Given the description of an element on the screen output the (x, y) to click on. 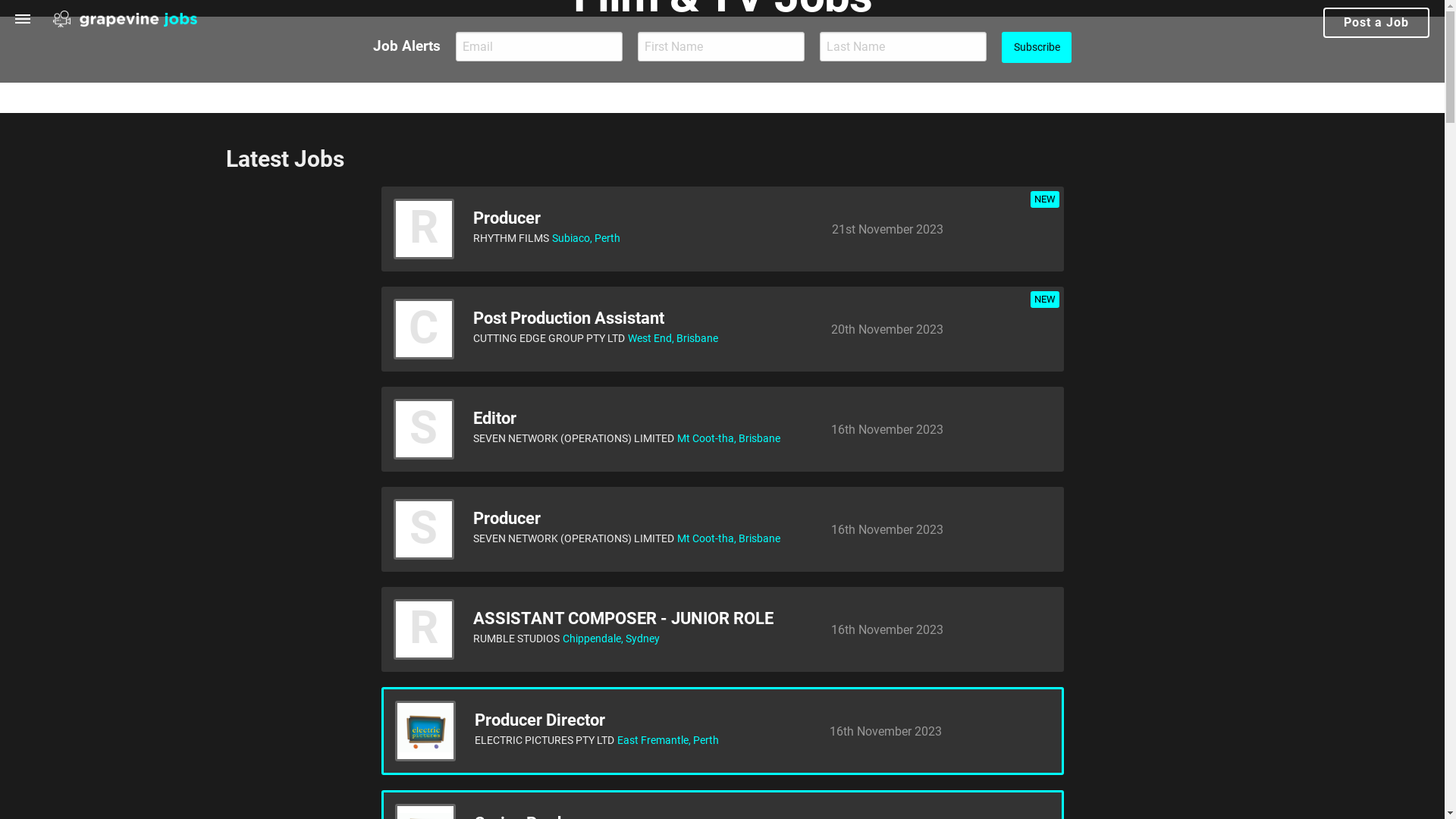
Post a Job Element type: text (1376, 22)
Subscribe Element type: text (1036, 46)
Home: Grapevine Jobs Element type: hover (124, 19)
Grapevine Jobs Element type: hover (125, 19)
